Given the description of an element on the screen output the (x, y) to click on. 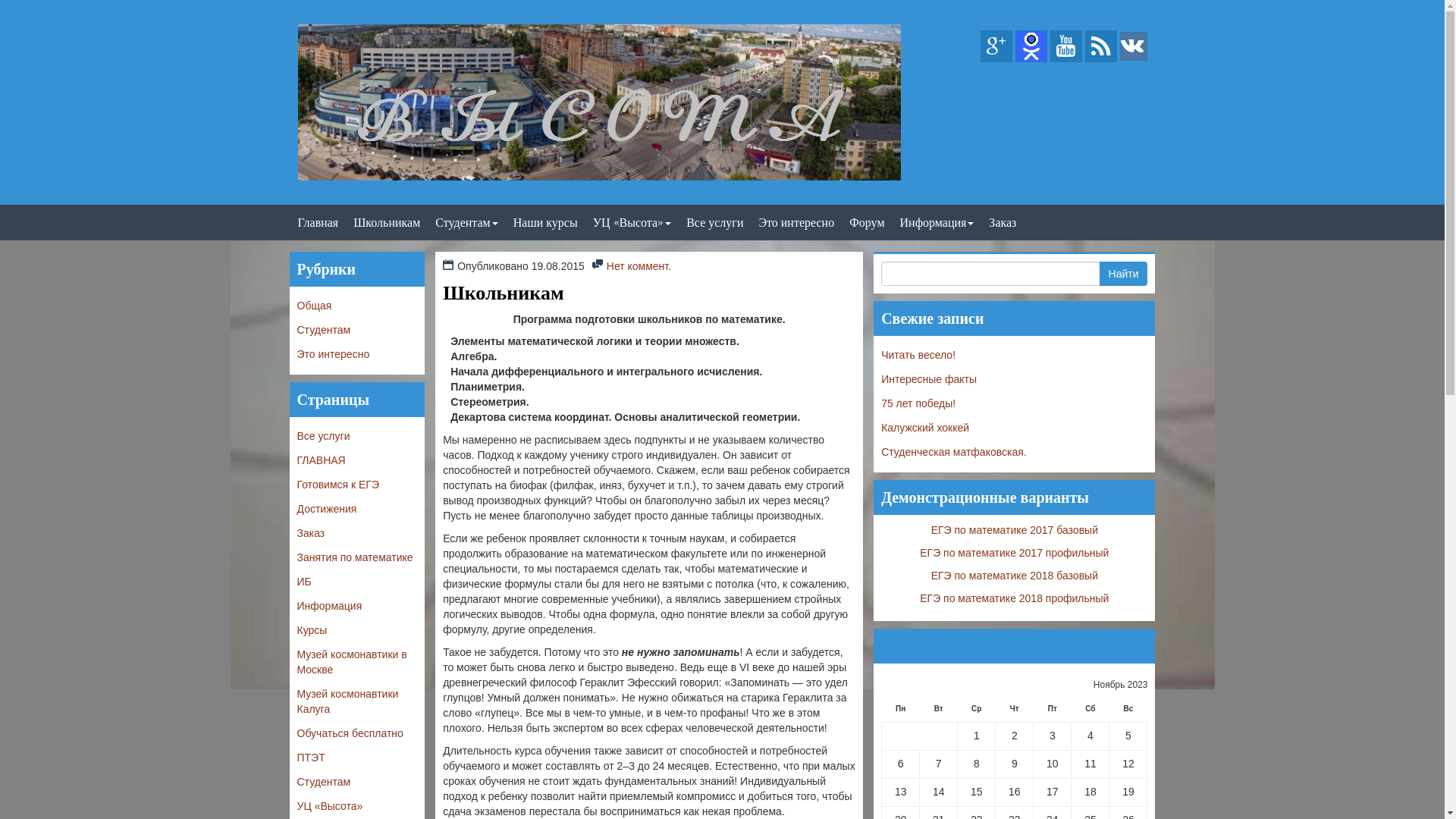
RSS Element type: hover (1101, 45)
OK Element type: hover (1031, 45)
You Tube Element type: hover (1066, 45)
VK Element type: hover (1132, 45)
Google Plus Element type: hover (996, 45)
